Given the description of an element on the screen output the (x, y) to click on. 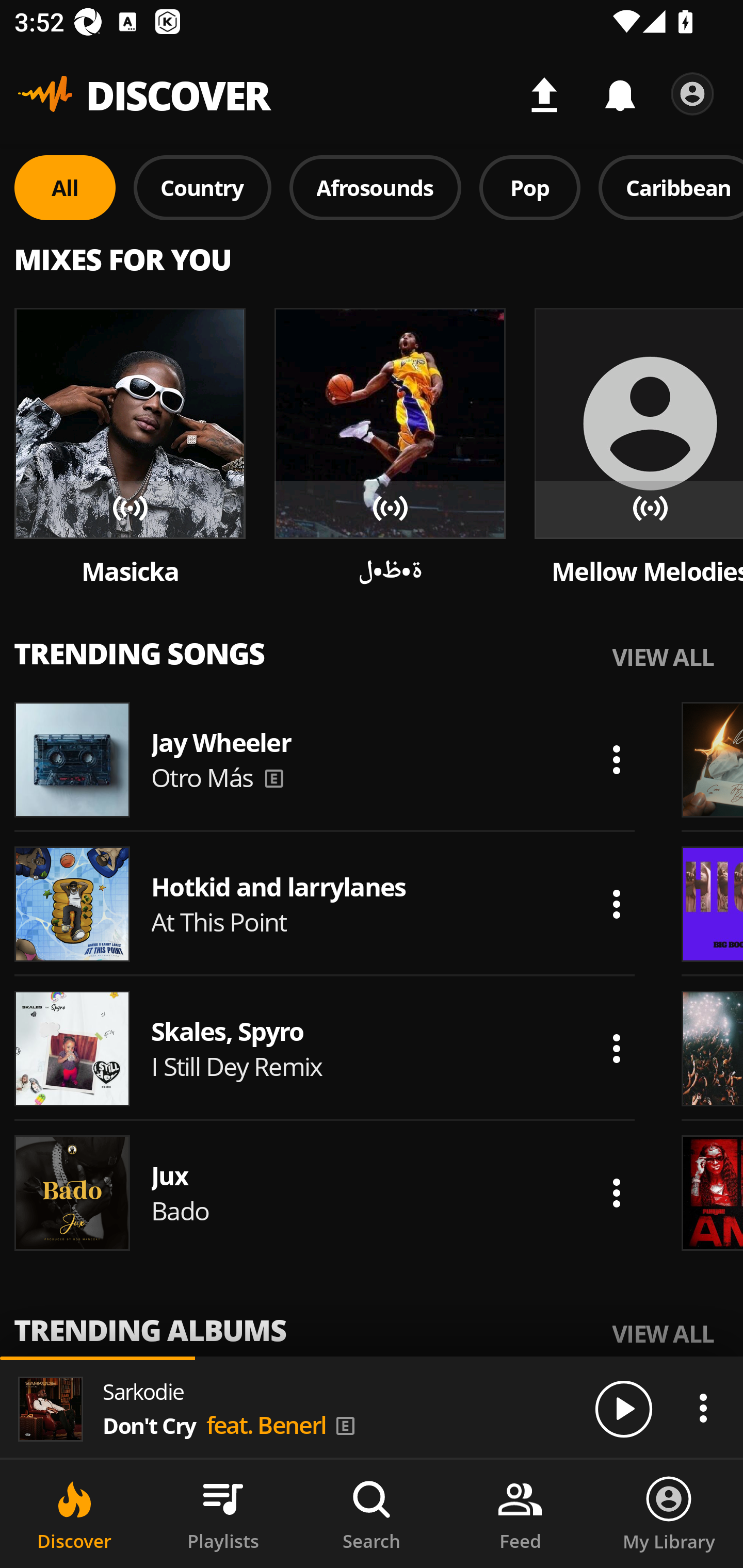
Settings (692, 94)
All (64, 187)
Country (202, 187)
Afrosounds (375, 187)
Pop (529, 187)
Caribbean (670, 187)
Song artwork Song artwork Song artwork Masicka (129, 447)
Song artwork Song artwork Song artwork ة•ظ•ل (389, 447)
VIEW ALL (663, 655)
Song artwork Jay Wheeler Otro Más    Actions (324, 759)
Actions (616, 759)
Actions (616, 903)
Actions (616, 1048)
Song artwork Jux Bado Actions (324, 1193)
Actions (616, 1193)
VIEW ALL (663, 1333)
Actions (703, 1407)
Play/Pause (623, 1408)
Discover (74, 1513)
Playlists (222, 1513)
Search (371, 1513)
Feed (519, 1513)
My Library (668, 1513)
